Given the description of an element on the screen output the (x, y) to click on. 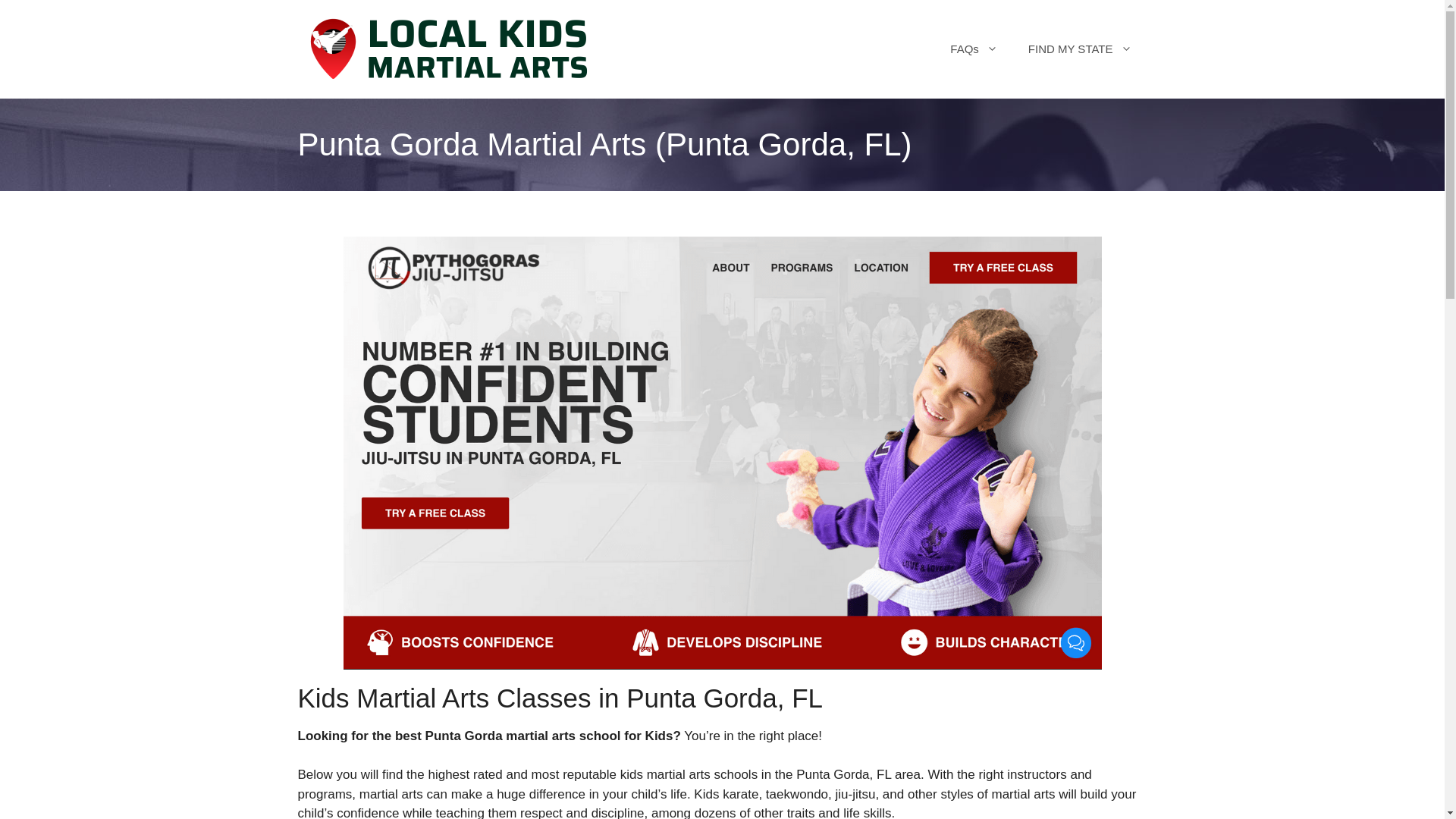
FAQs (973, 49)
FIND MY STATE (1080, 49)
